Given the description of an element on the screen output the (x, y) to click on. 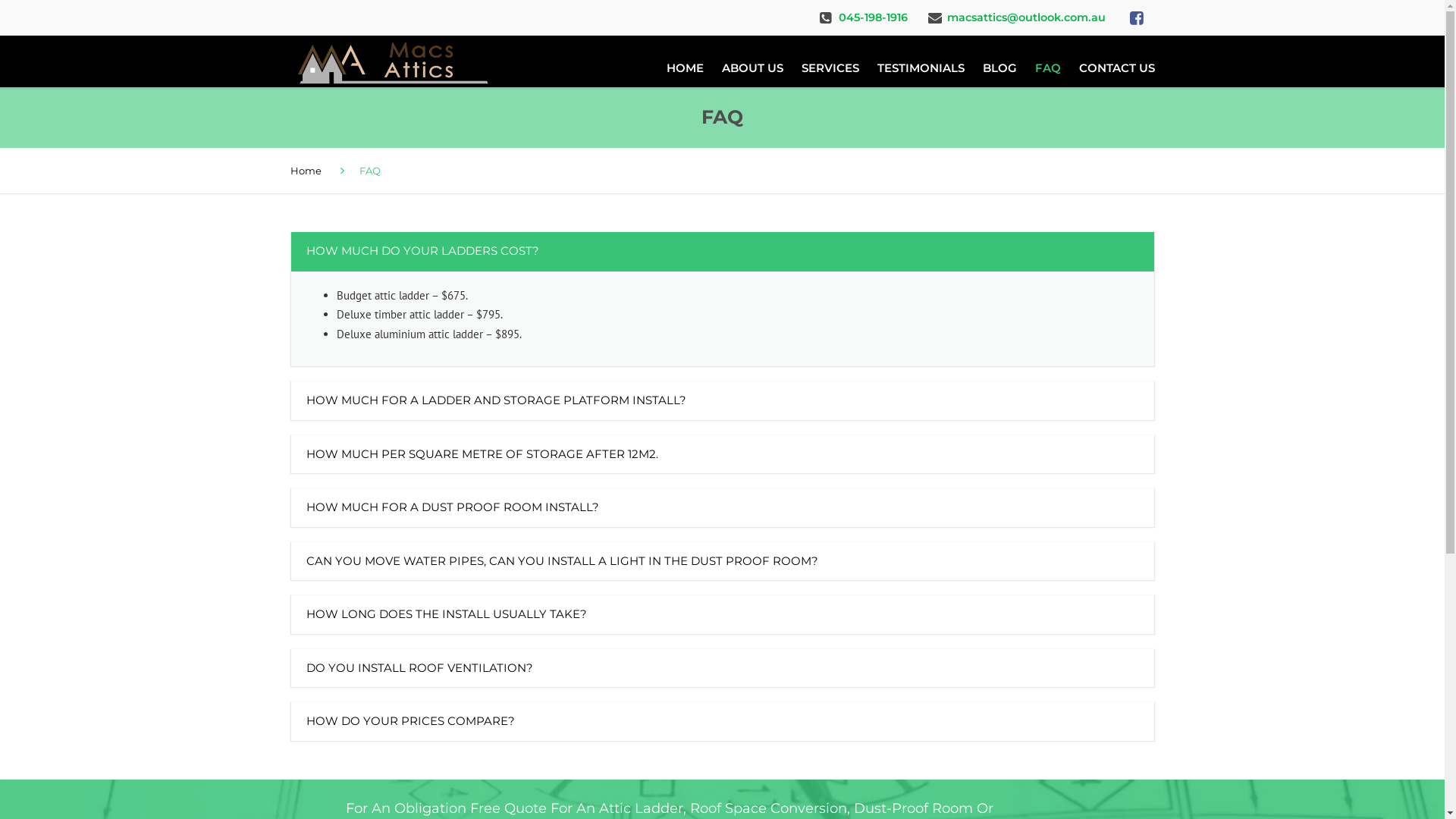
macsattics@outlook.com.au Element type: text (981, 639)
DO YOU INSTALL ROOF VENTILATION? Element type: text (722, 668)
Ladders Element type: text (743, 608)
HOW MUCH DO YOUR LADDERS COST? Element type: text (722, 251)
35 Salisbury St, St James WA 6102, Australia Element type: text (1015, 580)
FAQ Element type: text (734, 673)
ABOUT US Element type: text (752, 71)
Home Element type: text (603, 576)
Storage Element type: text (608, 641)
Blog Element type: text (601, 673)
HOW MUCH PER SQUARE METRE OF STORAGE AFTER 12M2. Element type: text (722, 454)
HOW LONG DOES THE INSTALL USUALLY TAKE? Element type: text (722, 614)
FAQ Element type: text (1046, 71)
www.facebook.com/Macs-Attics Element type: text (990, 668)
CONTACT US Element type: text (1112, 71)
Home Element type: text (304, 169)
045-198-1916 Element type: text (872, 17)
HOME Element type: text (684, 71)
Dust Proof Room Element type: text (629, 608)
TESTIMONIALS Element type: text (920, 71)
About Element type: text (739, 576)
macsattics@outlook.com.au Element type: text (1025, 17)
HOW MUCH FOR A LADDER AND STORAGE PLATFORM INSTALL? Element type: text (722, 400)
HOW MUCH FOR A DUST PROOF ROOM INSTALL? Element type: text (722, 507)
045-198-1916 Element type: text (945, 609)
Ventilation Element type: text (750, 641)
Fresh Digital Element type: text (810, 799)
SERVICES Element type: text (829, 71)
HOW DO YOUR PRICES COMPARE? Element type: text (722, 721)
Contact us Element type: text (615, 705)
BLOG Element type: text (999, 71)
